Given the description of an element on the screen output the (x, y) to click on. 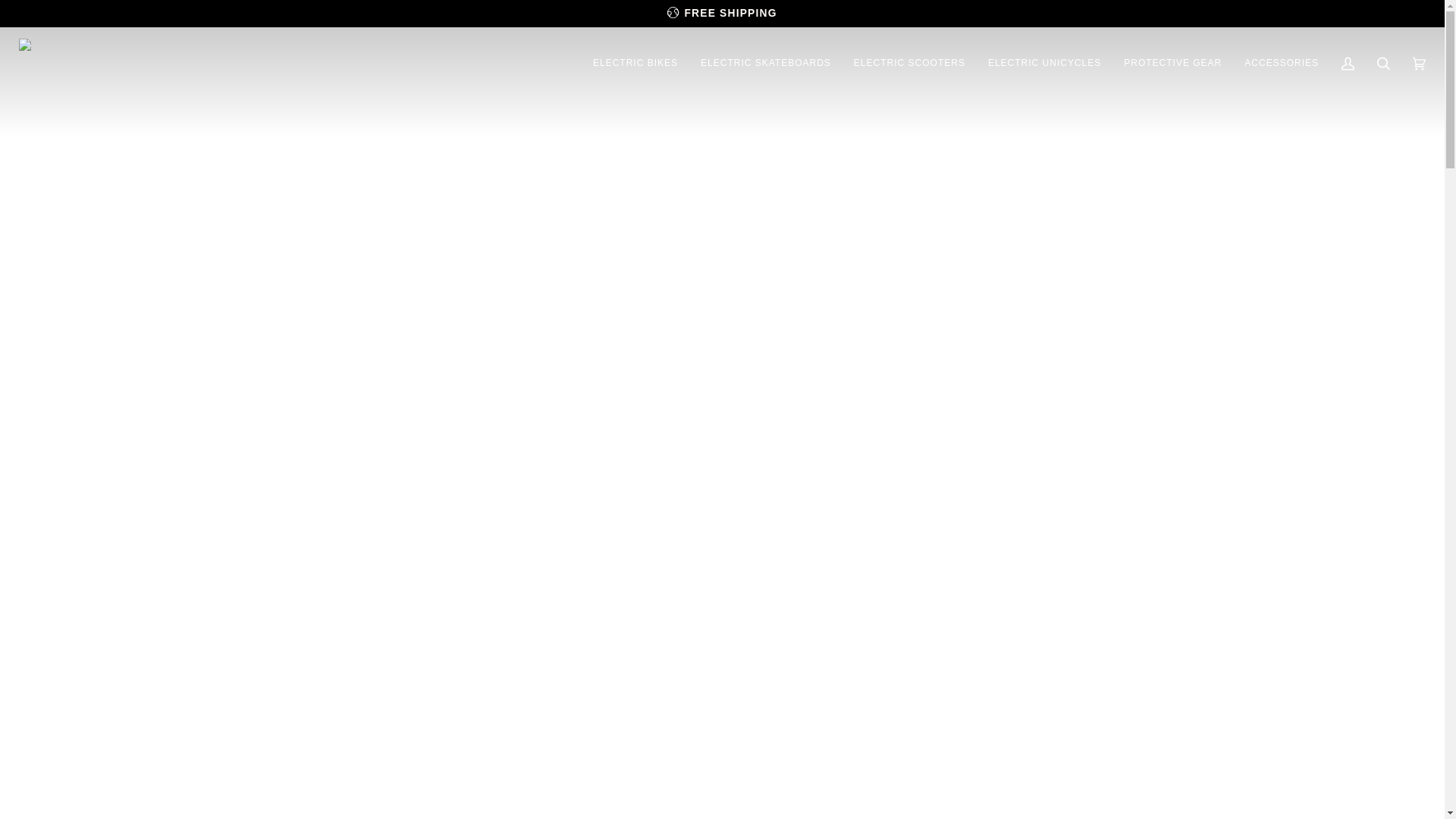
ELECTRIC SKATEBOARDS (765, 63)
ELECTRIC BIKES (634, 63)
ELECTRIC SCOOTERS (909, 63)
